Given the description of an element on the screen output the (x, y) to click on. 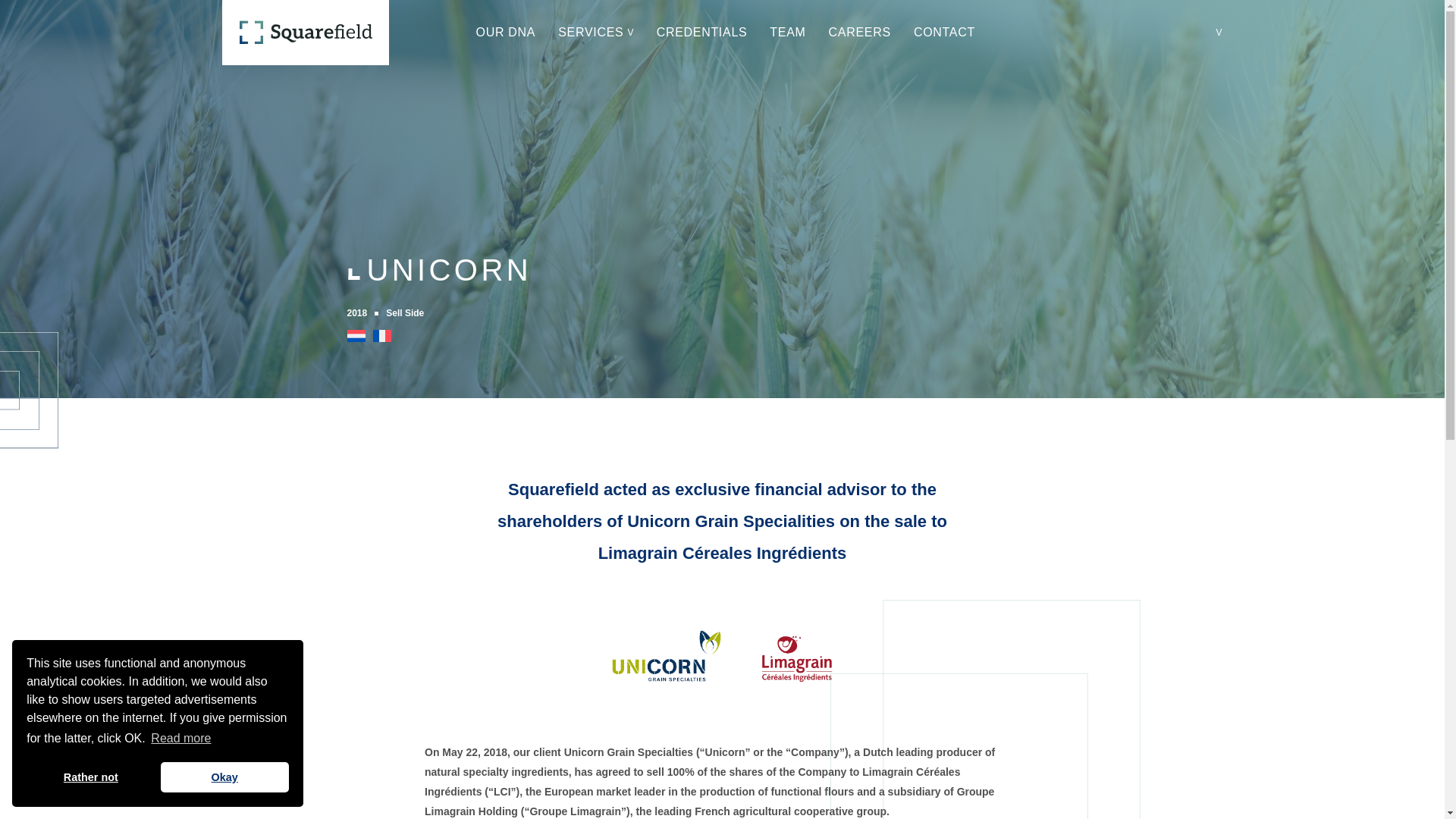
2018 (362, 313)
CREDENTIALS (702, 31)
Squarefield (304, 32)
Read more (181, 738)
SERVICES (590, 32)
CONTACT (944, 31)
TEAM (787, 31)
Rather not (90, 777)
CAREERS (859, 31)
Sell Side (404, 313)
